Given the description of an element on the screen output the (x, y) to click on. 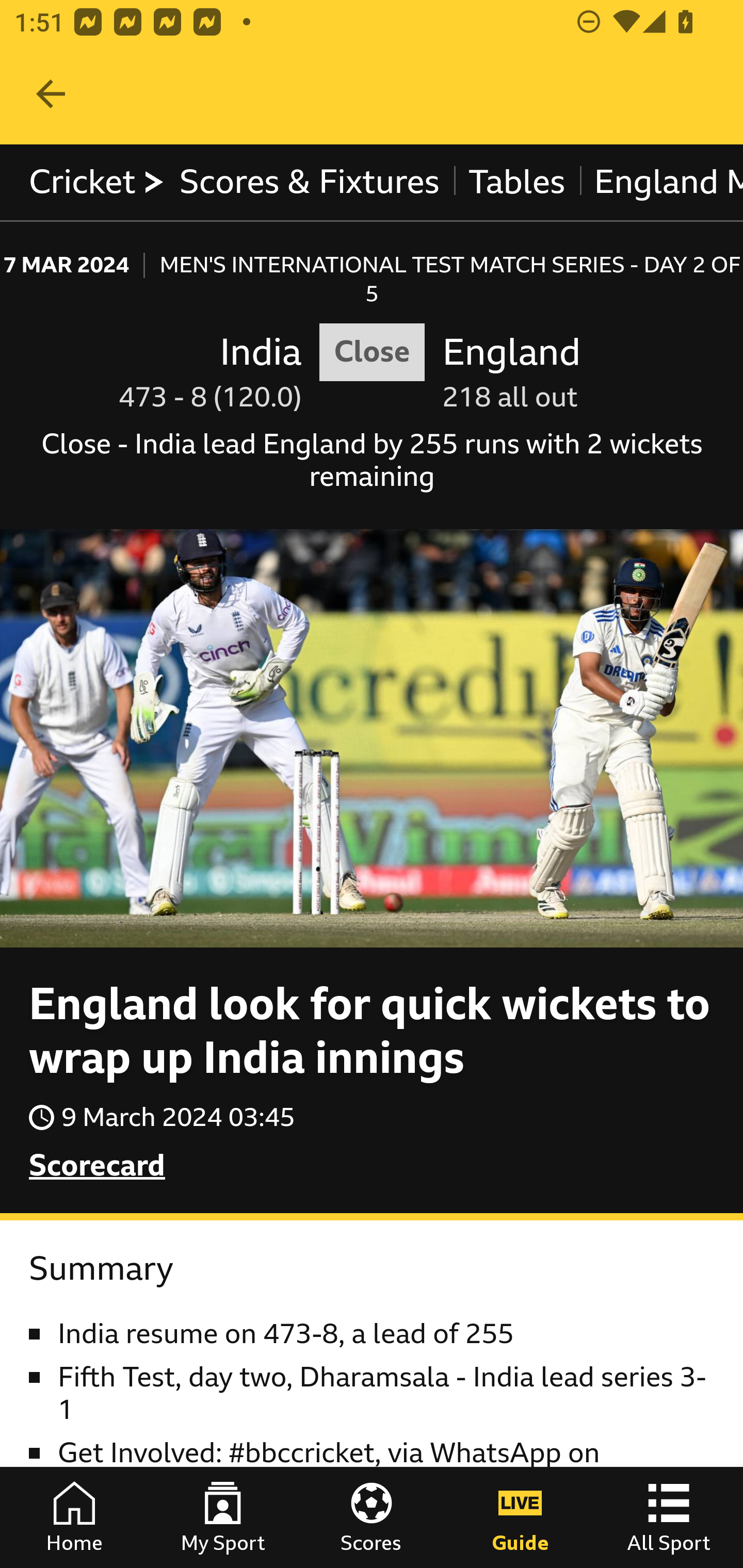
Navigate up (50, 93)
Cricket  (97, 181)
Scores & Fixtures (309, 181)
Tables (517, 181)
England Men (660, 181)
Scorecard (97, 1165)
Home (74, 1517)
My Sport (222, 1517)
Scores (371, 1517)
All Sport (668, 1517)
